Given the description of an element on the screen output the (x, y) to click on. 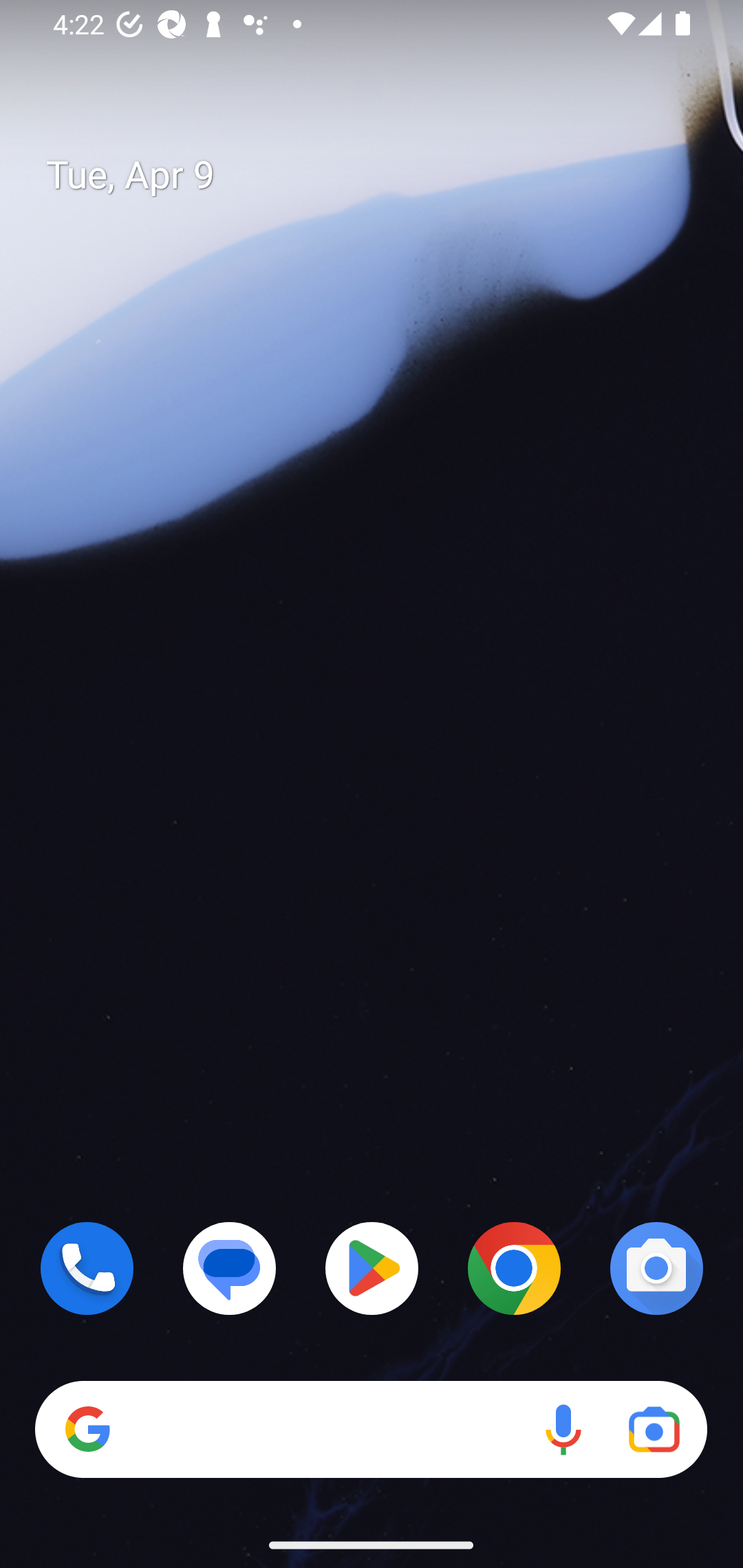
Tue, Apr 9 (386, 175)
Phone (86, 1268)
Messages (229, 1268)
Play Store (371, 1268)
Chrome (513, 1268)
Camera (656, 1268)
Voice search (562, 1429)
Google Lens (653, 1429)
